Given the description of an element on the screen output the (x, y) to click on. 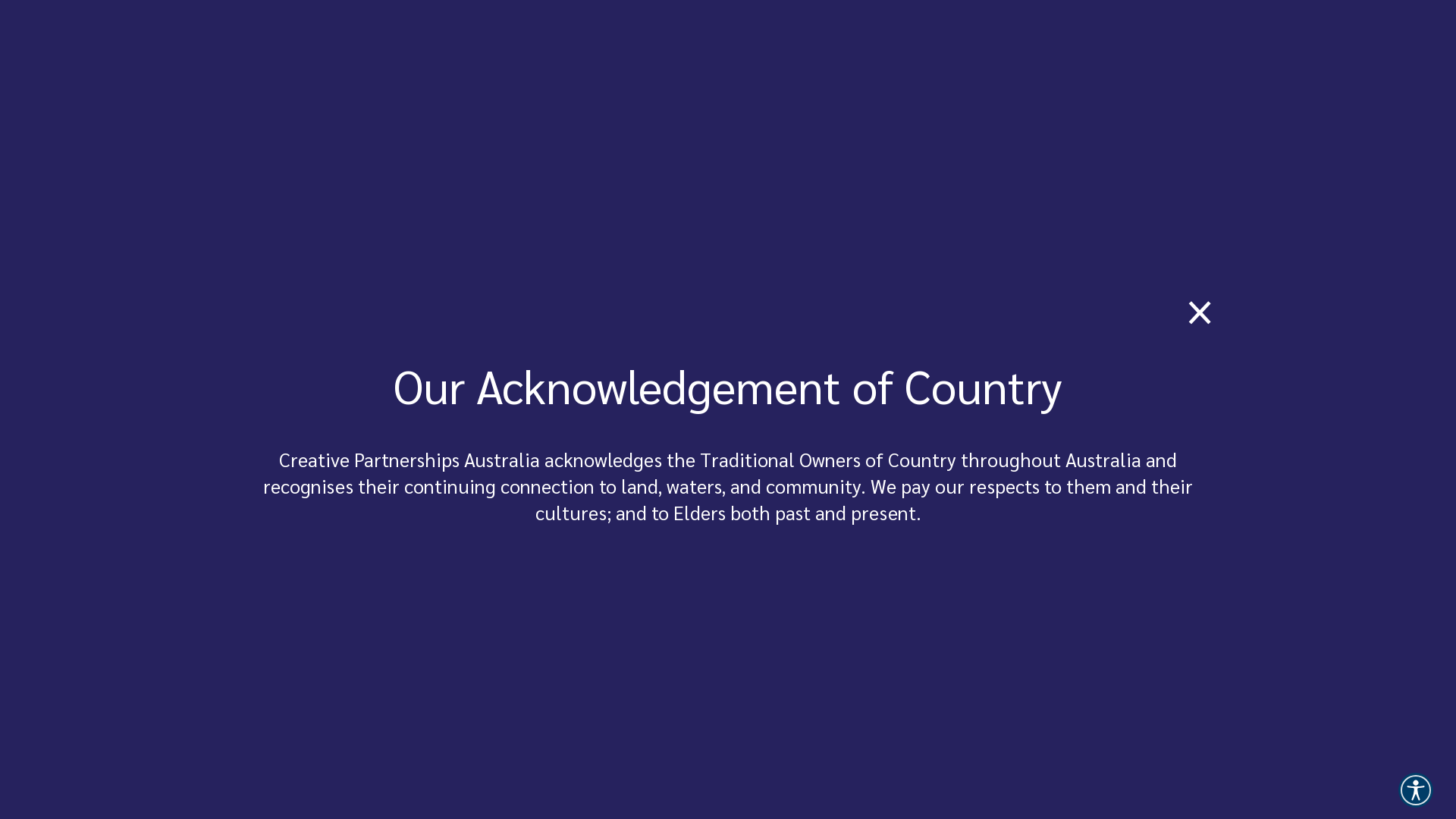
Programs & Services Element type: text (518, 60)
Facebook Element type: text (379, 457)
Twitter Element type: text (453, 457)
Privacy Policy Element type: text (630, 775)
CONTACT Element type: text (1125, 60)
About Us Element type: text (327, 458)
About Us Element type: text (963, 60)
Australian Cultural Fund Element type: text (660, 60)
Resources Element type: text (835, 60)
Terms and Conditions Element type: text (531, 775)
Sign Up Element type: text (736, 641)
Disclaimer Element type: text (704, 775)
News Element type: text (904, 60)
LinkedIn Element type: text (416, 457)
Contact Element type: text (263, 458)
here Element type: text (1007, 14)
Awards Element type: text (761, 60)
